Given the description of an element on the screen output the (x, y) to click on. 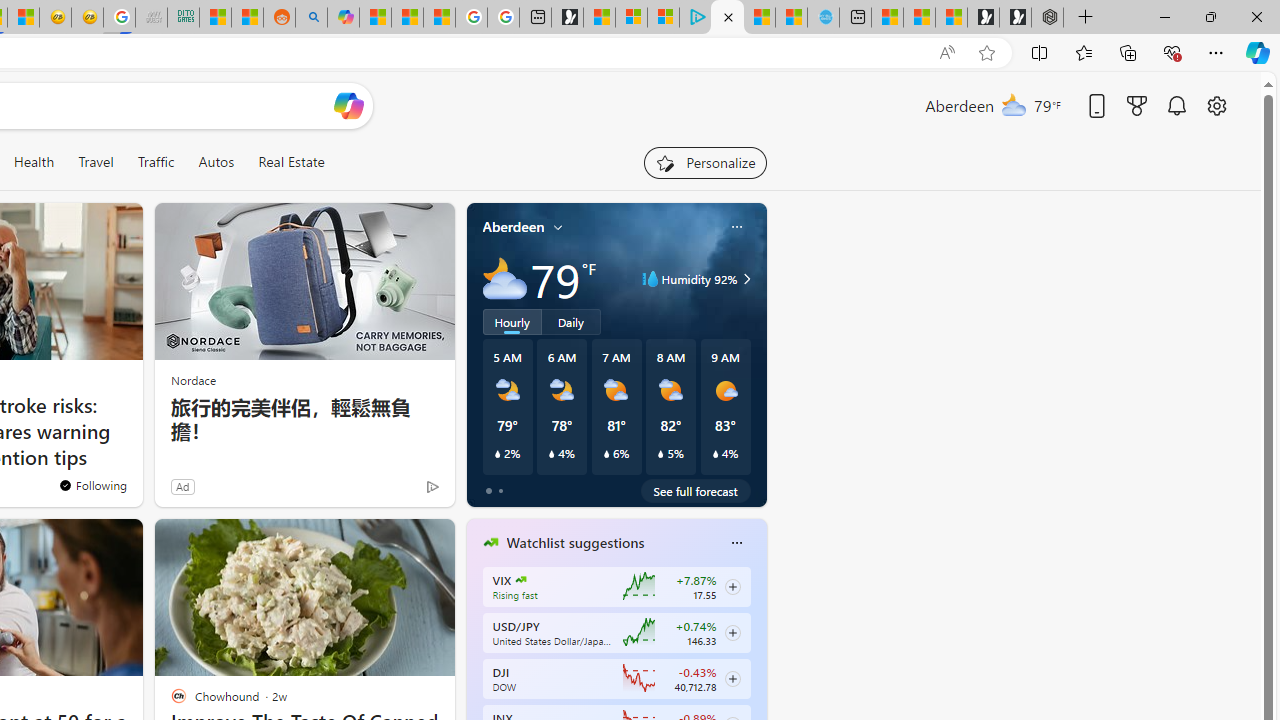
You're following FOX News (92, 485)
previous (476, 670)
Microsoft Copilot in Bing (343, 17)
Hide this story (393, 542)
My location (558, 227)
